Given the description of an element on the screen output the (x, y) to click on. 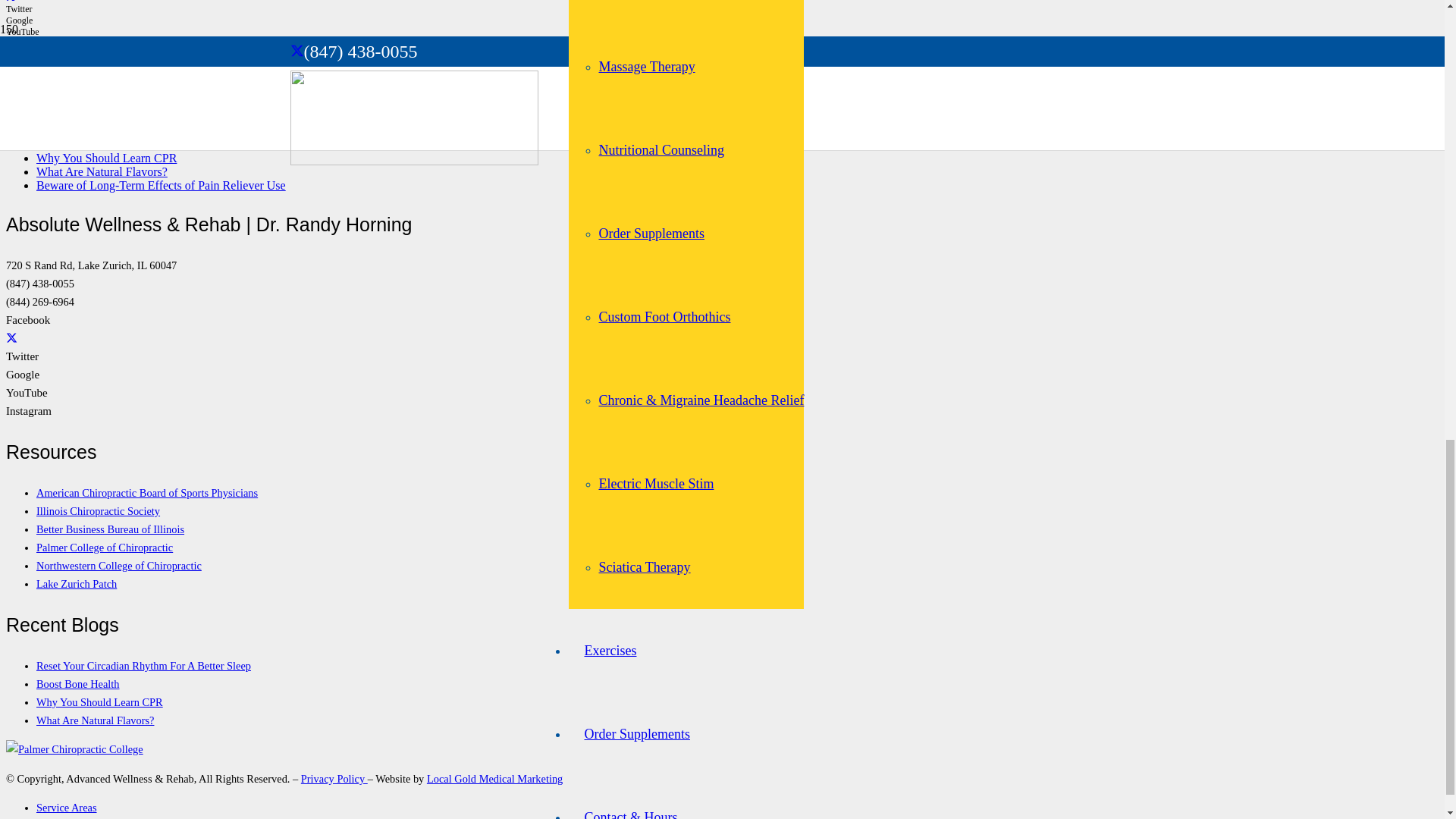
Forms (601, 77)
Twitter (11, 337)
